Given the description of an element on the screen output the (x, y) to click on. 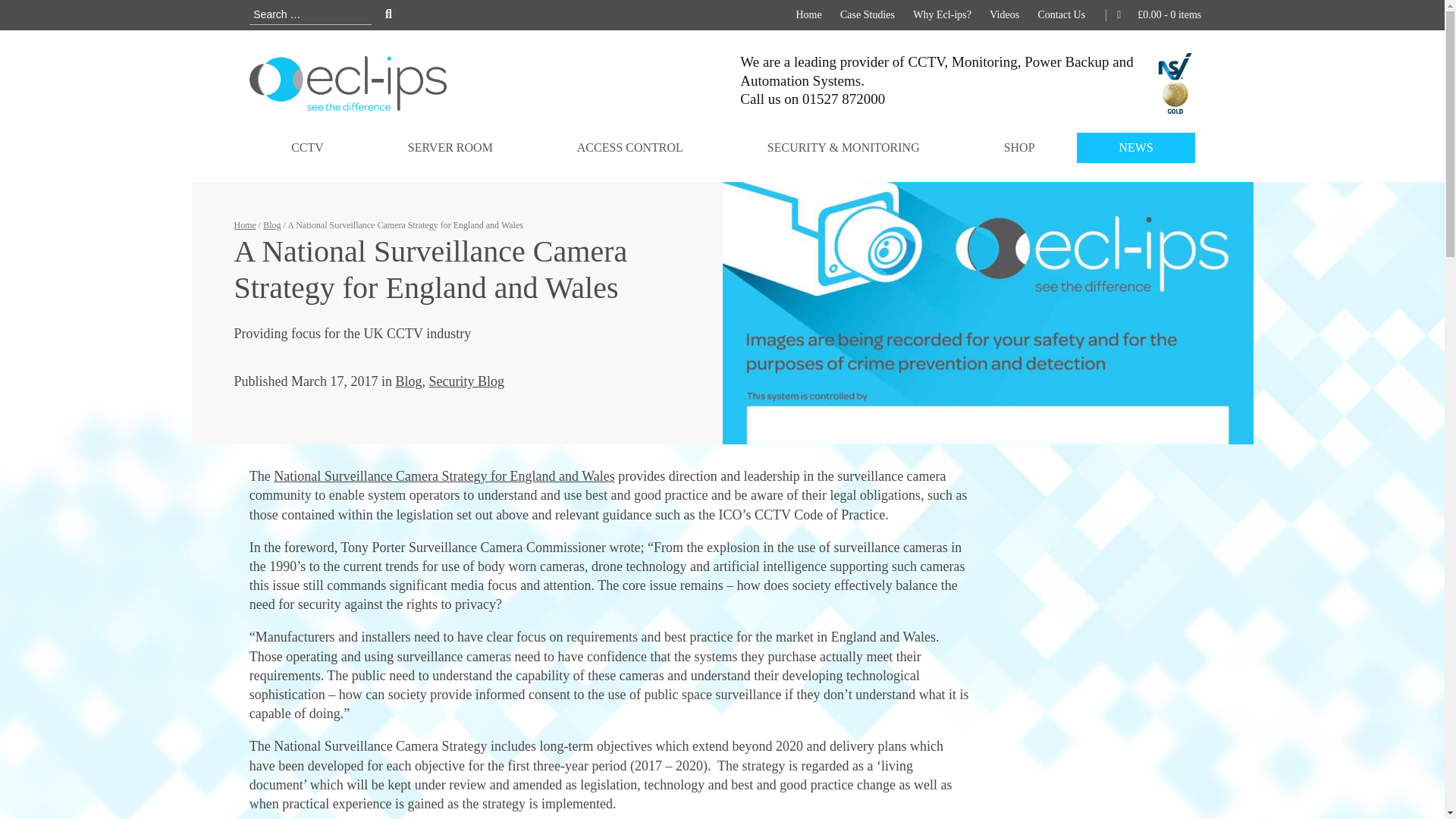
SERVER ROOM (449, 147)
Why Ecl-ips? (941, 14)
ACCESS CONTROL (629, 147)
Home (808, 14)
Videos (1003, 14)
CCTV (307, 147)
Case Studies (867, 14)
SHOP (1018, 147)
Contact Us (1060, 14)
